Given the description of an element on the screen output the (x, y) to click on. 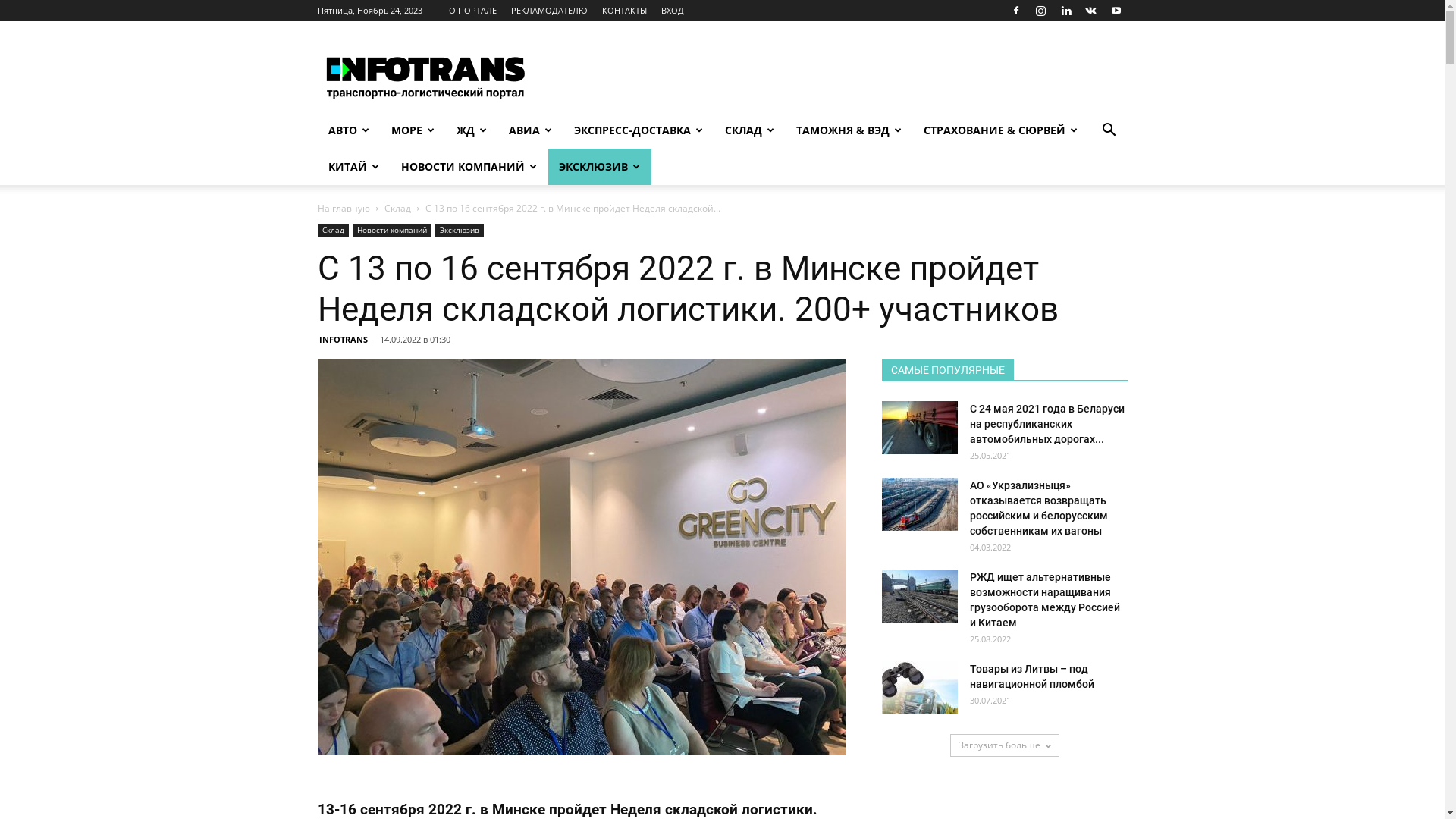
INFOTRANS Element type: text (342, 339)
bdef760de50a9ae8077ee Element type: hover (580, 556)
Youtube Element type: hover (1115, 10)
Instagram Element type: hover (1040, 10)
VKontakte Element type: hover (1090, 10)
Linkedin Element type: hover (1065, 10)
Facebook Element type: hover (1015, 10)
